Given the description of an element on the screen output the (x, y) to click on. 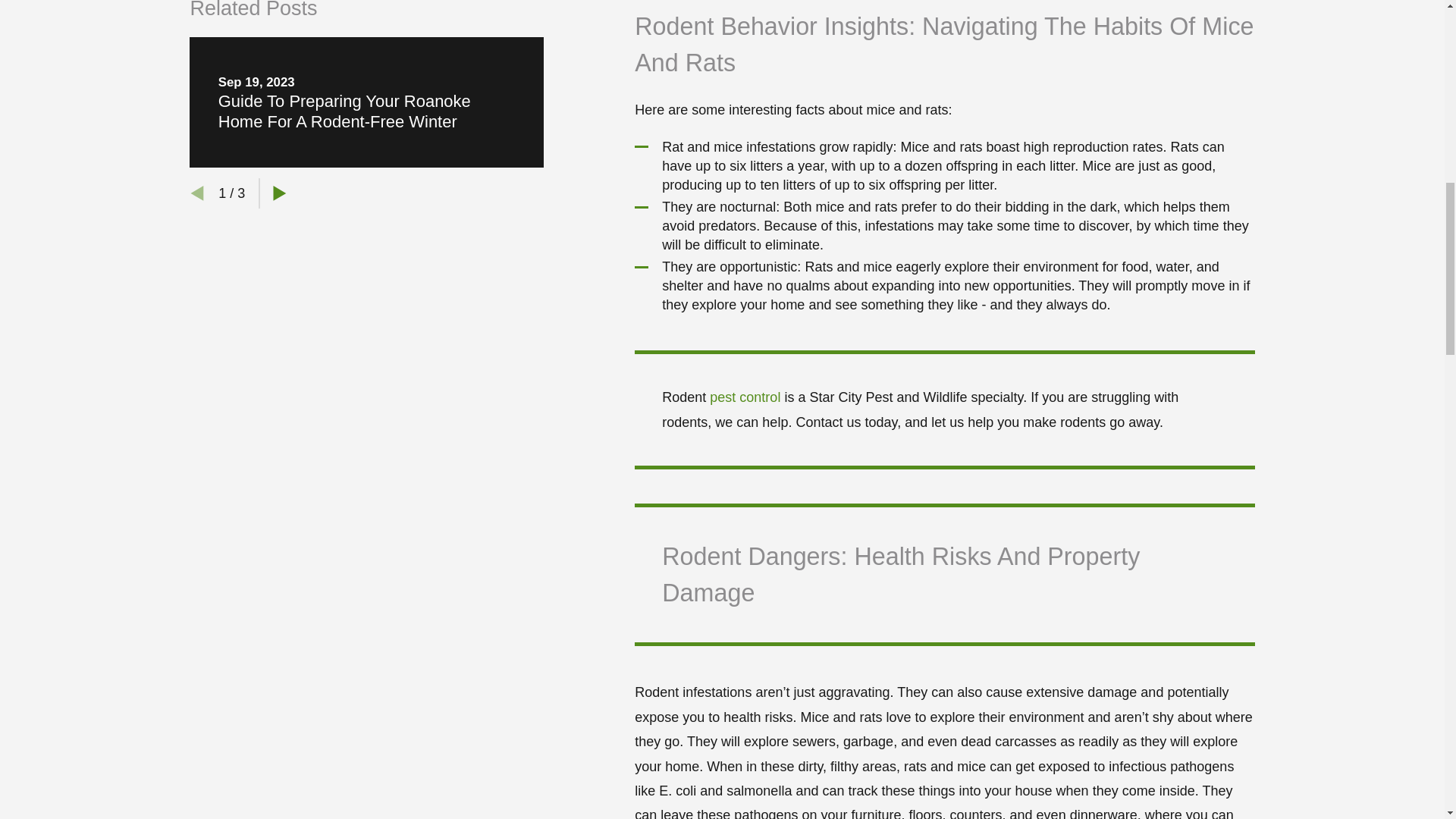
View next item (279, 192)
View previous item (197, 192)
